Given the description of an element on the screen output the (x, y) to click on. 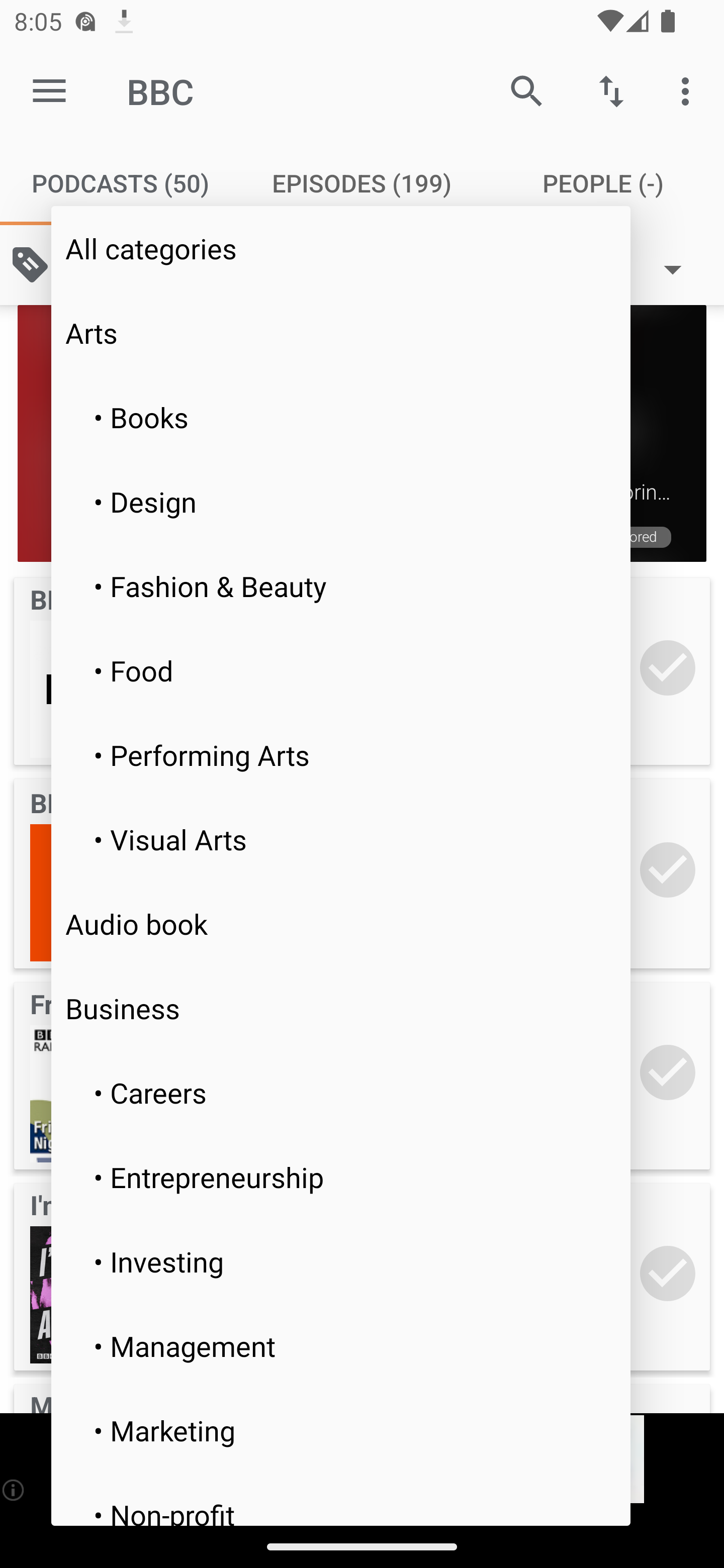
All categories (340, 247)
Arts (340, 332)
    • Books (340, 416)
    • Design (340, 501)
    • Fashion & Beauty (340, 586)
    • Food (340, 669)
    • Performing Arts (340, 753)
    • Visual Arts (340, 838)
Audio book (340, 923)
Business (340, 1007)
    • Careers (340, 1092)
    • Entrepreneurship (340, 1177)
    • Investing (340, 1261)
    • Management (340, 1345)
    • Marketing (340, 1429)
    • Non-profit (340, 1498)
